Given the description of an element on the screen output the (x, y) to click on. 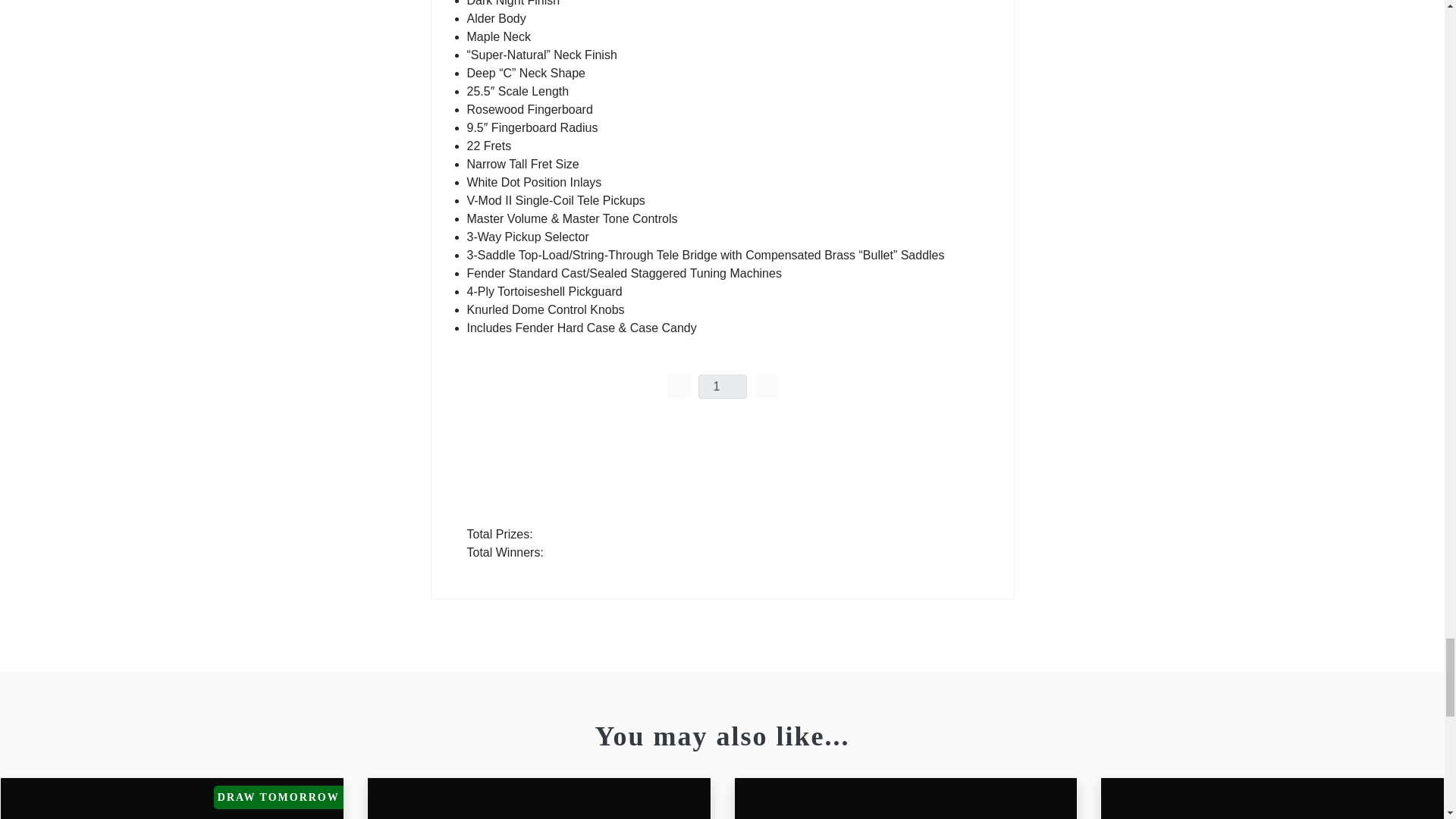
1 (721, 386)
